Given the description of an element on the screen output the (x, y) to click on. 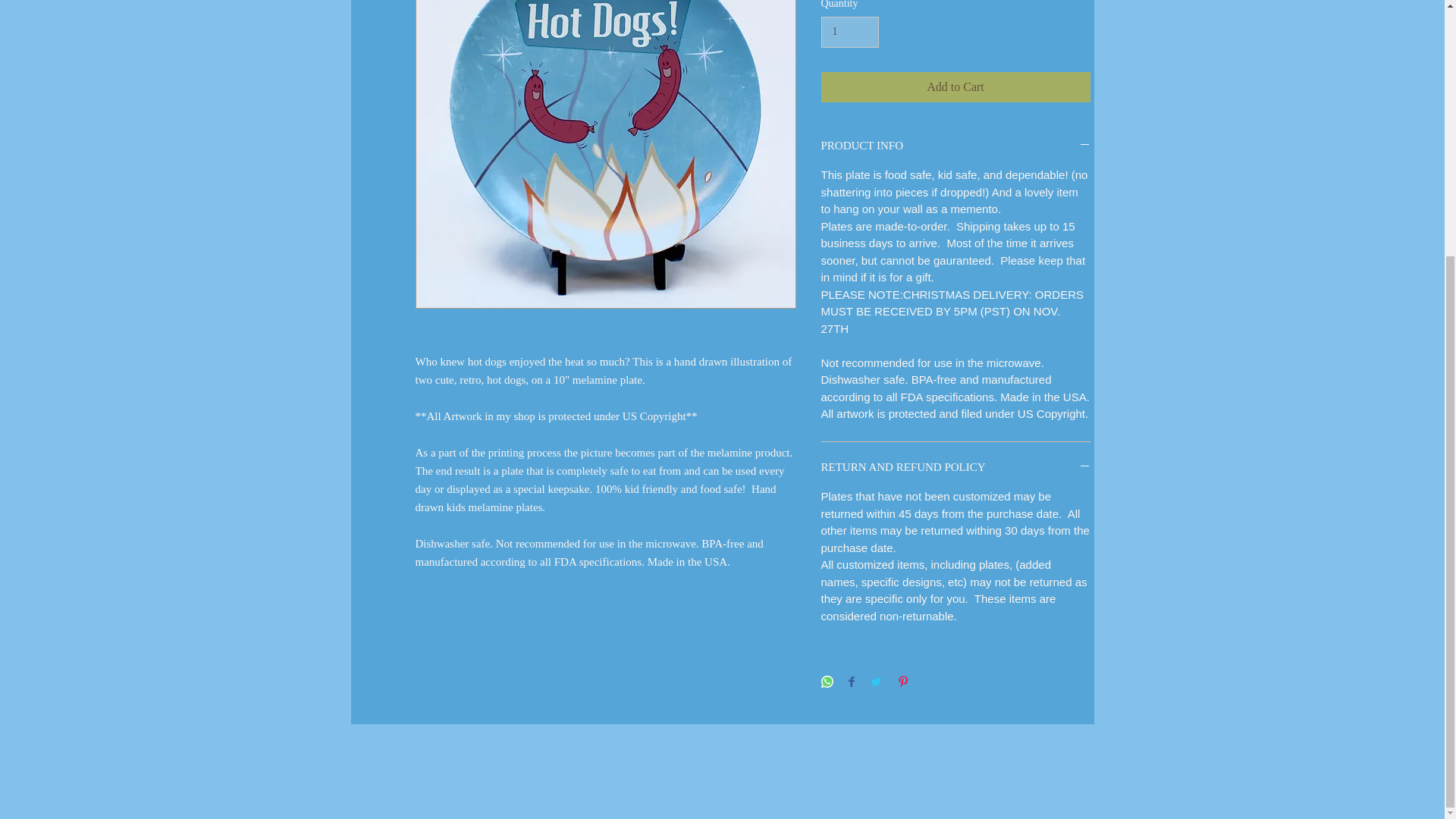
Add to Cart (955, 87)
PRODUCT INFO (955, 146)
RETURN AND REFUND POLICY (955, 467)
1 (849, 31)
